Given the description of an element on the screen output the (x, y) to click on. 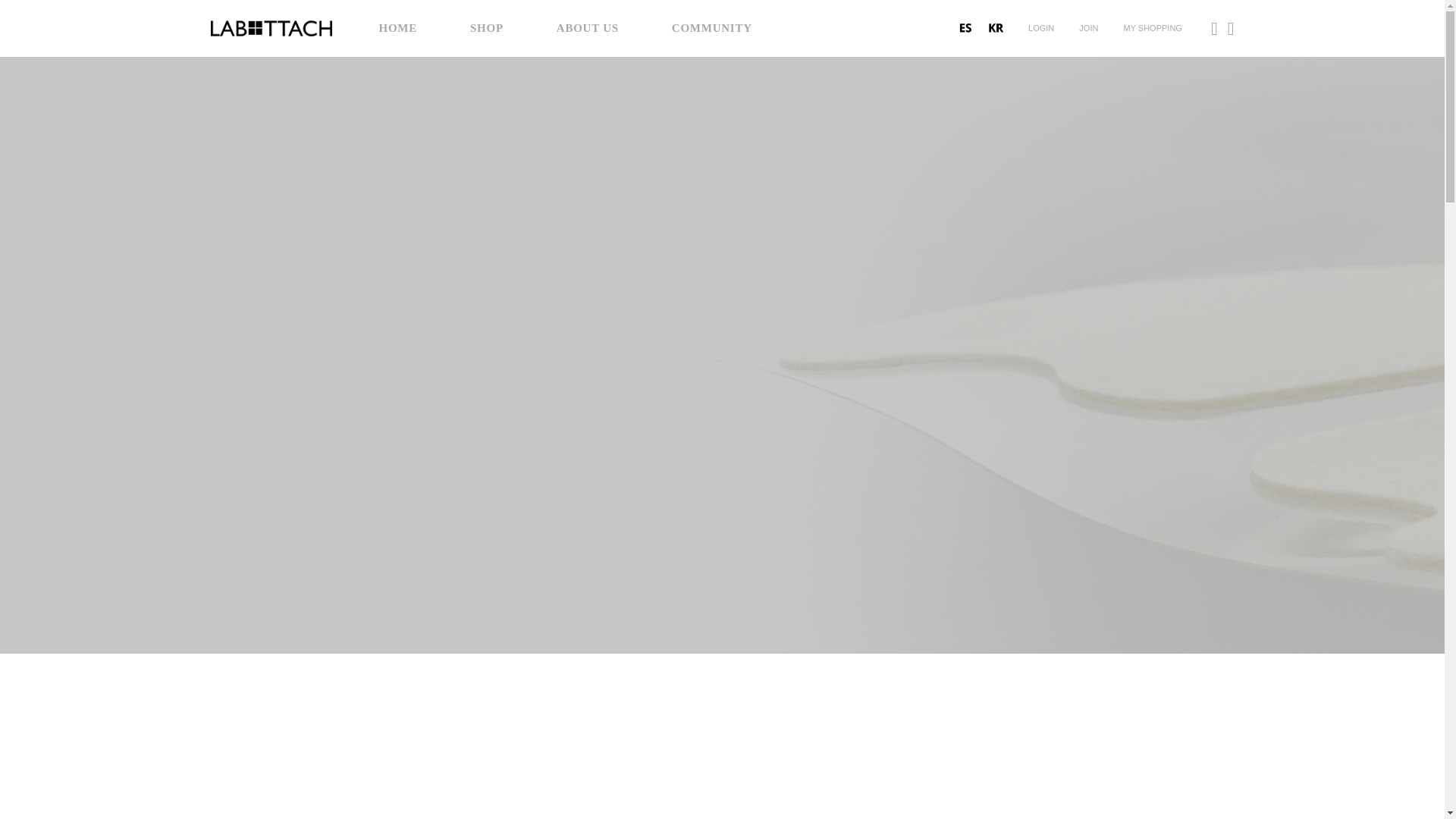
LOGIN (1042, 27)
ABOUT US (587, 28)
HOME (397, 28)
SHOP (486, 28)
MY SHOPPING (1151, 27)
JOIN (1089, 27)
COMMUNITY (711, 28)
